Given the description of an element on the screen output the (x, y) to click on. 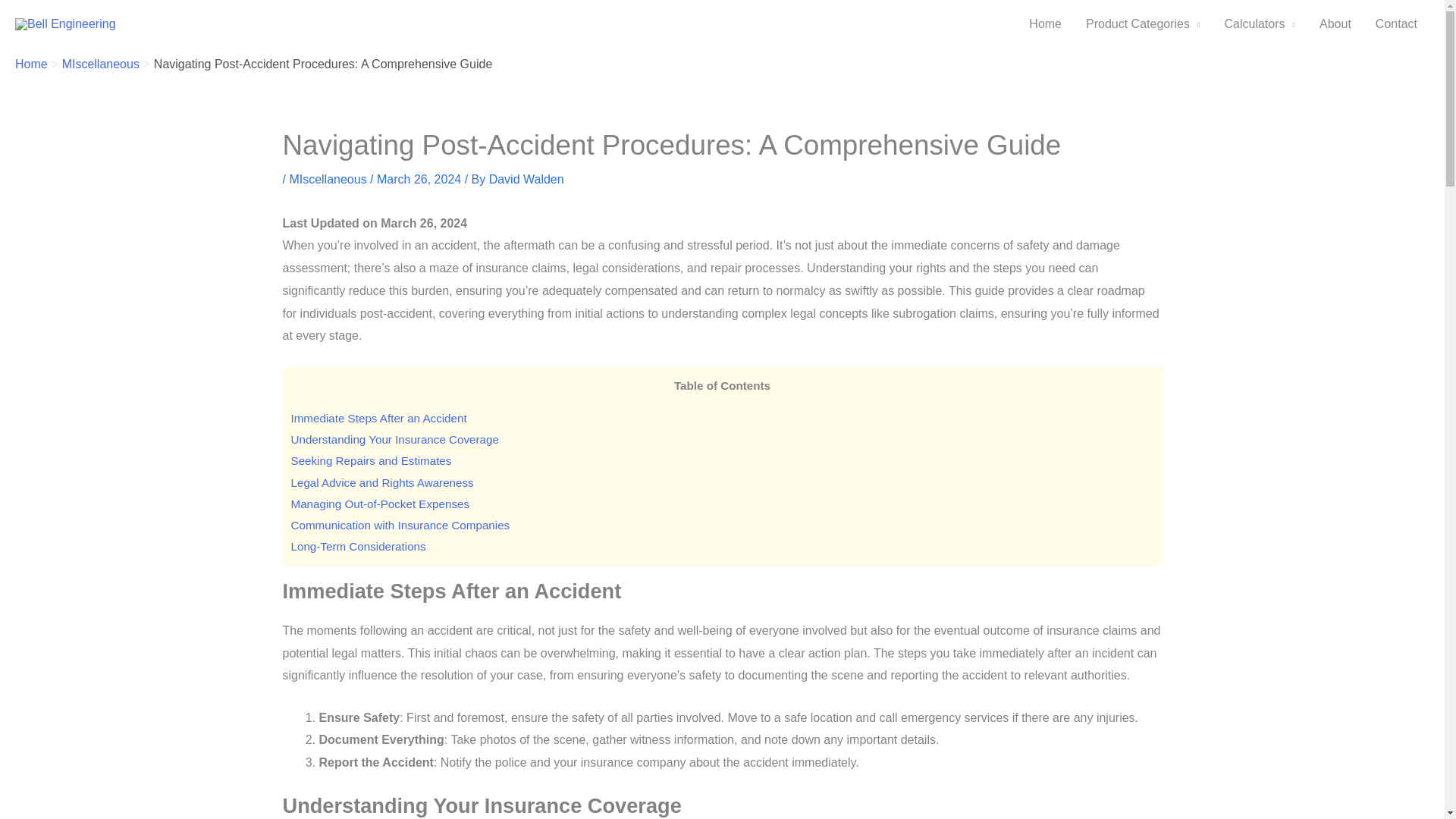
Calculators (1259, 24)
Home (31, 63)
Immediate Steps After an Accident (379, 418)
MIscellaneous (327, 178)
MIscellaneous (100, 63)
View all posts by David Walden (526, 178)
Understanding Your Insurance Coverage (395, 439)
Contact (1395, 24)
Product Categories (1142, 24)
Home (1045, 24)
Seeking Repairs and Estimates (371, 460)
About (1334, 24)
David Walden (526, 178)
